Given the description of an element on the screen output the (x, y) to click on. 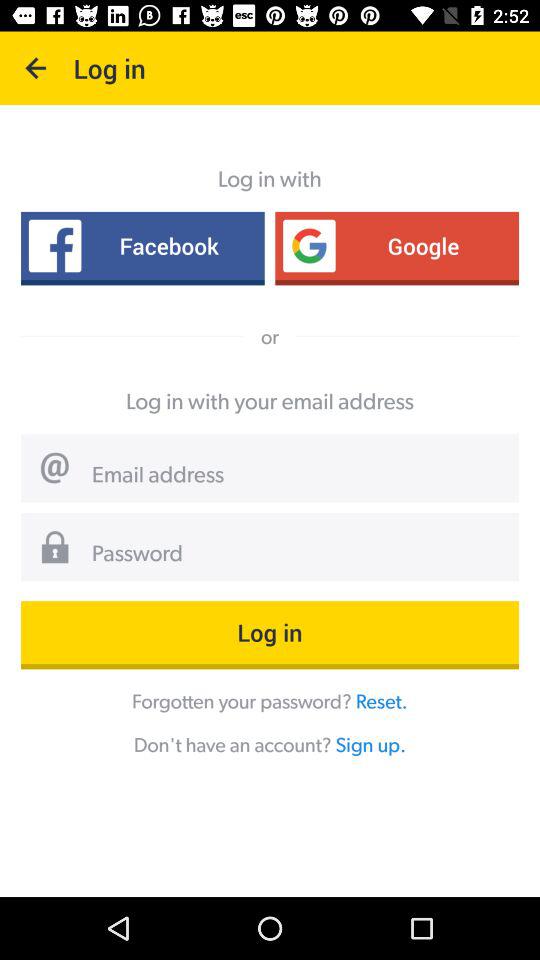
open item next to the forgotten your password? (381, 700)
